Given the description of an element on the screen output the (x, y) to click on. 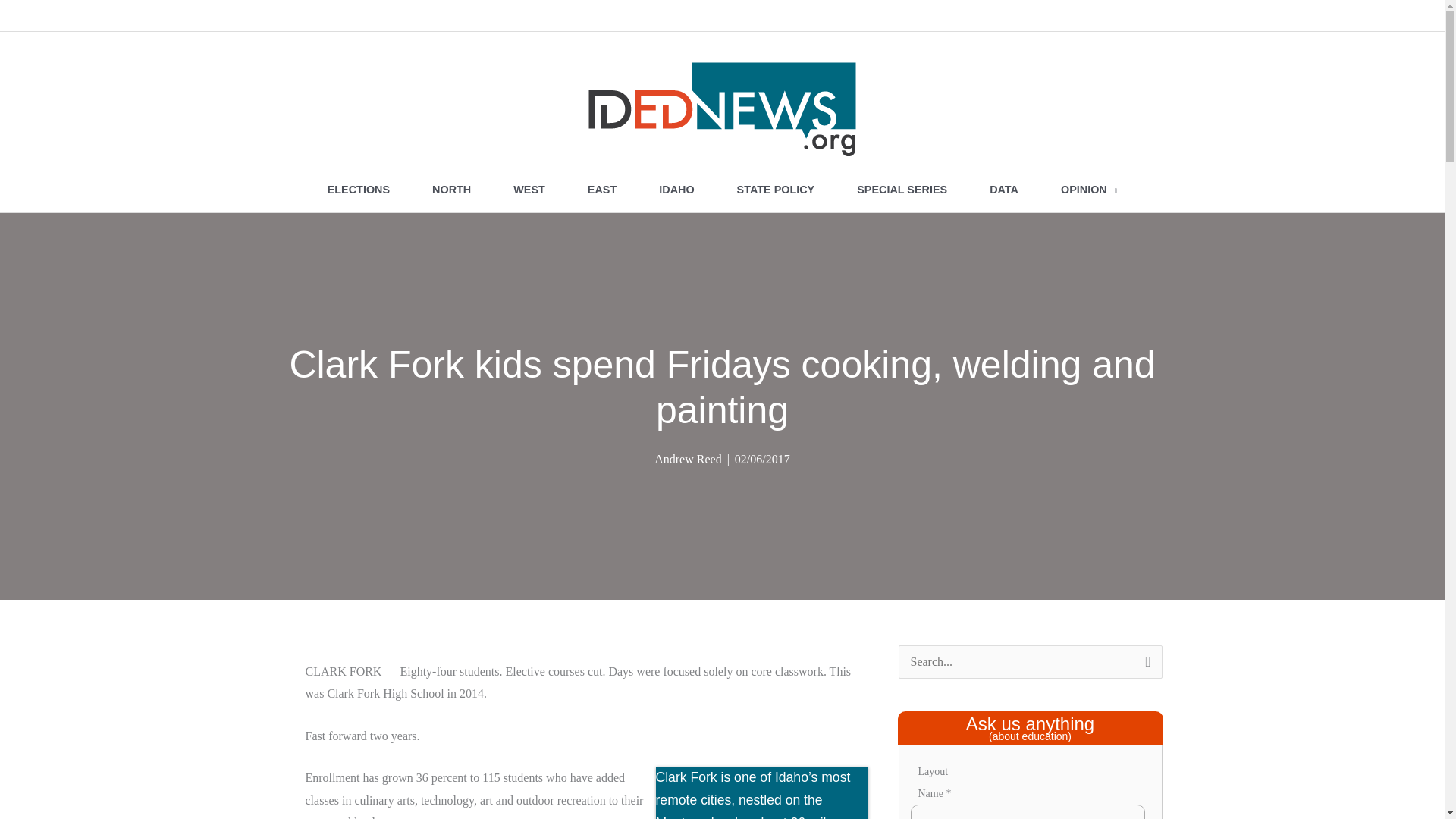
STATE POLICY (775, 190)
SPECIAL SERIES (901, 190)
OPINION (1088, 190)
ELECTIONS (357, 190)
IDAHO (675, 190)
EAST (601, 190)
DATA (1003, 190)
NORTH (451, 190)
Andrew Reed (686, 459)
WEST (529, 190)
